Given the description of an element on the screen output the (x, y) to click on. 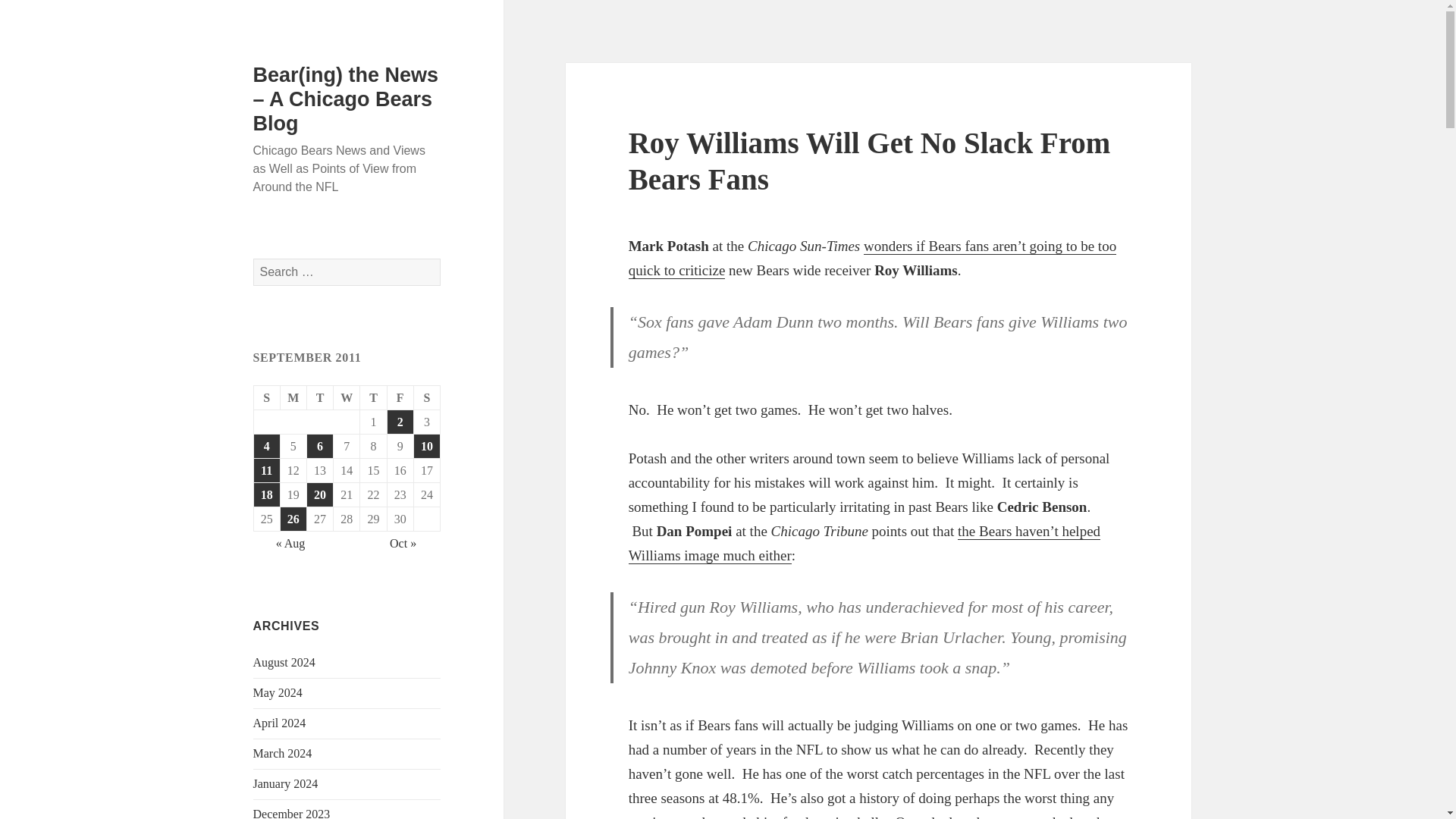
August 2024 (284, 662)
March 2024 (283, 753)
Thursday (373, 397)
January 2024 (285, 783)
4 (266, 445)
11 (266, 470)
Friday (400, 397)
18 (266, 494)
2 (400, 422)
